Given the description of an element on the screen output the (x, y) to click on. 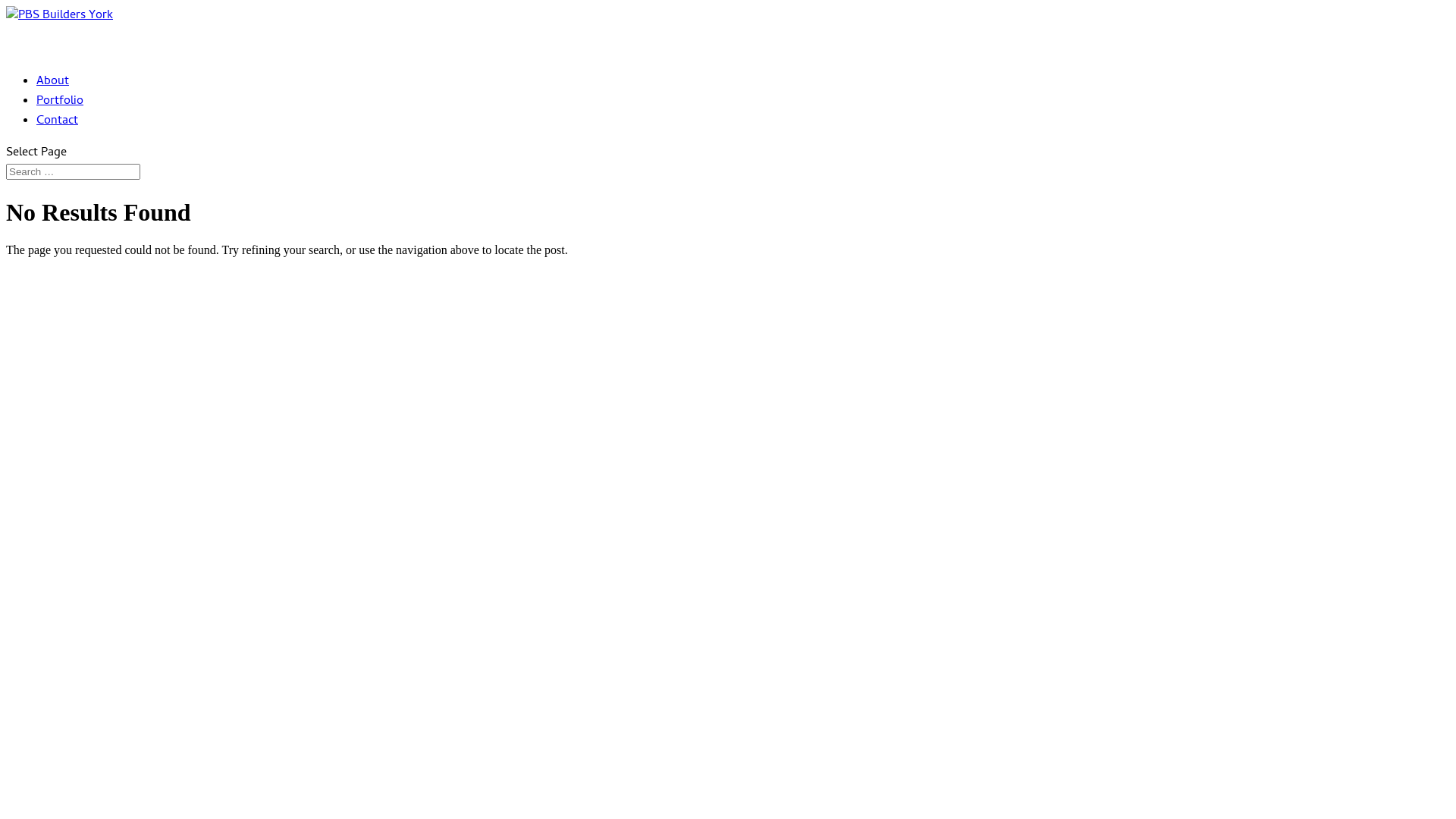
Search for: Element type: hover (73, 171)
Portfolio Element type: text (59, 118)
About Element type: text (52, 98)
Contact Element type: text (57, 138)
